Given the description of an element on the screen output the (x, y) to click on. 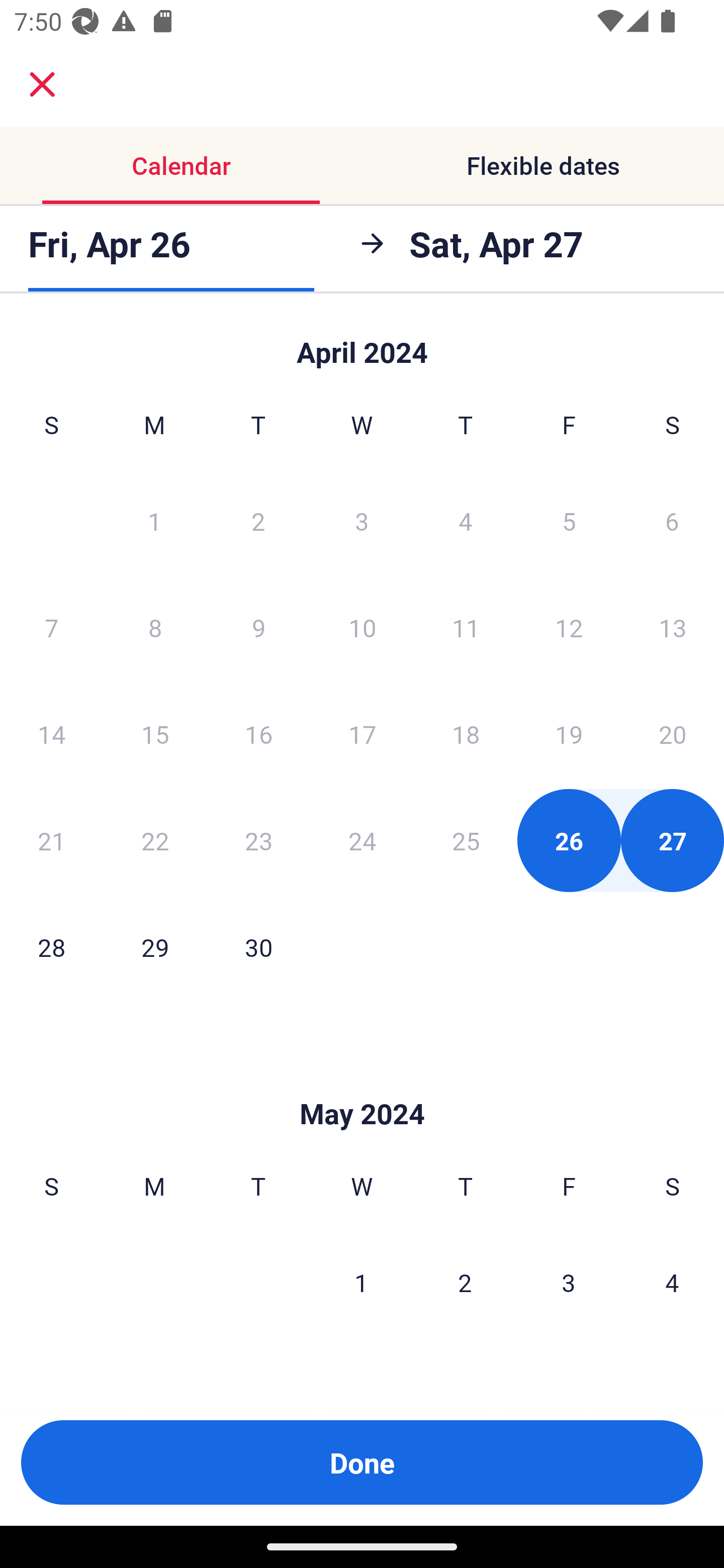
close. (42, 84)
Flexible dates (542, 164)
Skip to Done (362, 343)
1 Monday, April 1, 2024 (154, 520)
2 Tuesday, April 2, 2024 (257, 520)
3 Wednesday, April 3, 2024 (361, 520)
4 Thursday, April 4, 2024 (465, 520)
5 Friday, April 5, 2024 (568, 520)
6 Saturday, April 6, 2024 (672, 520)
7 Sunday, April 7, 2024 (51, 626)
8 Monday, April 8, 2024 (155, 626)
9 Tuesday, April 9, 2024 (258, 626)
10 Wednesday, April 10, 2024 (362, 626)
11 Thursday, April 11, 2024 (465, 626)
12 Friday, April 12, 2024 (569, 626)
13 Saturday, April 13, 2024 (672, 626)
14 Sunday, April 14, 2024 (51, 733)
15 Monday, April 15, 2024 (155, 733)
16 Tuesday, April 16, 2024 (258, 733)
17 Wednesday, April 17, 2024 (362, 733)
18 Thursday, April 18, 2024 (465, 733)
19 Friday, April 19, 2024 (569, 733)
20 Saturday, April 20, 2024 (672, 733)
21 Sunday, April 21, 2024 (51, 840)
22 Monday, April 22, 2024 (155, 840)
23 Tuesday, April 23, 2024 (258, 840)
24 Wednesday, April 24, 2024 (362, 840)
25 Thursday, April 25, 2024 (465, 840)
28 Sunday, April 28, 2024 (51, 946)
29 Monday, April 29, 2024 (155, 946)
30 Tuesday, April 30, 2024 (258, 946)
Skip to Done (362, 1083)
1 Wednesday, May 1, 2024 (361, 1282)
2 Thursday, May 2, 2024 (464, 1282)
3 Friday, May 3, 2024 (568, 1282)
4 Saturday, May 4, 2024 (672, 1282)
Done (361, 1462)
